Given the description of an element on the screen output the (x, y) to click on. 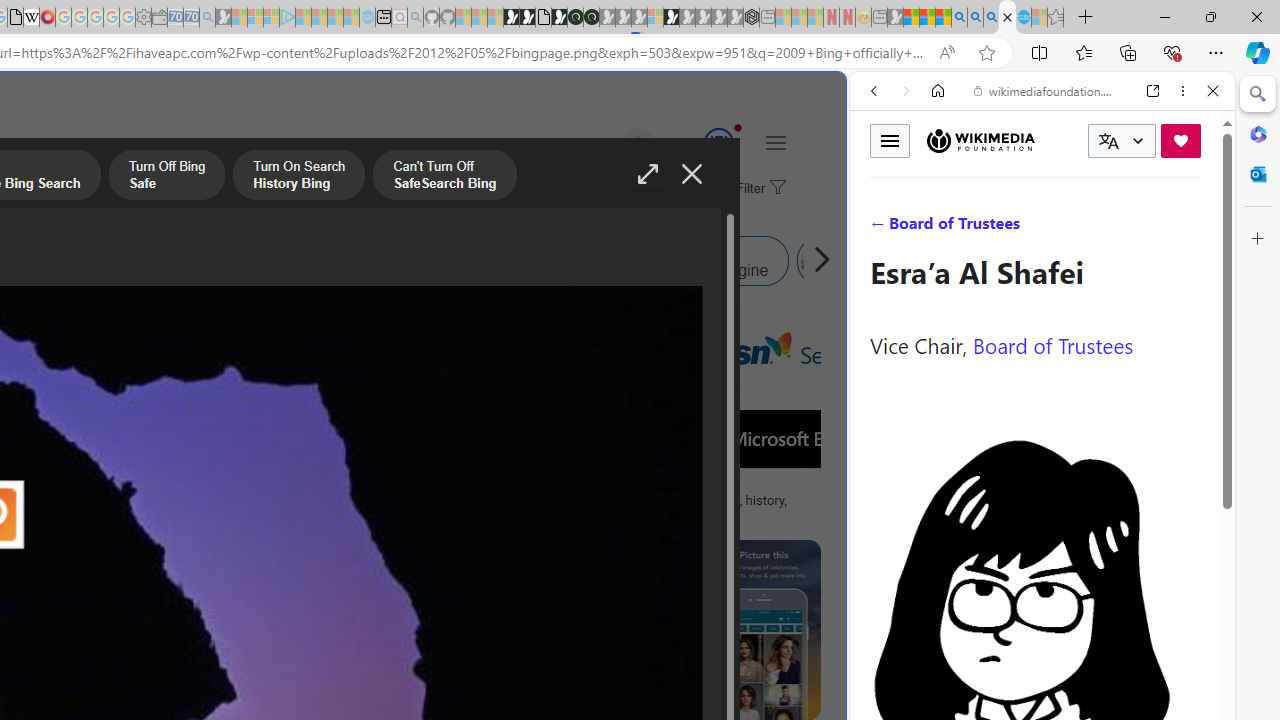
Close split screen (844, 102)
MSN - Sleeping (895, 17)
AutomationID: serp_medal_svg (718, 142)
Bing Logo, symbol, meaning, history, PNG, brand (695, 508)
Can't Turn Off SafeSearch Bing (444, 177)
MediaWiki (47, 17)
Settings - Sleeping (143, 17)
